Given the description of an element on the screen output the (x, y) to click on. 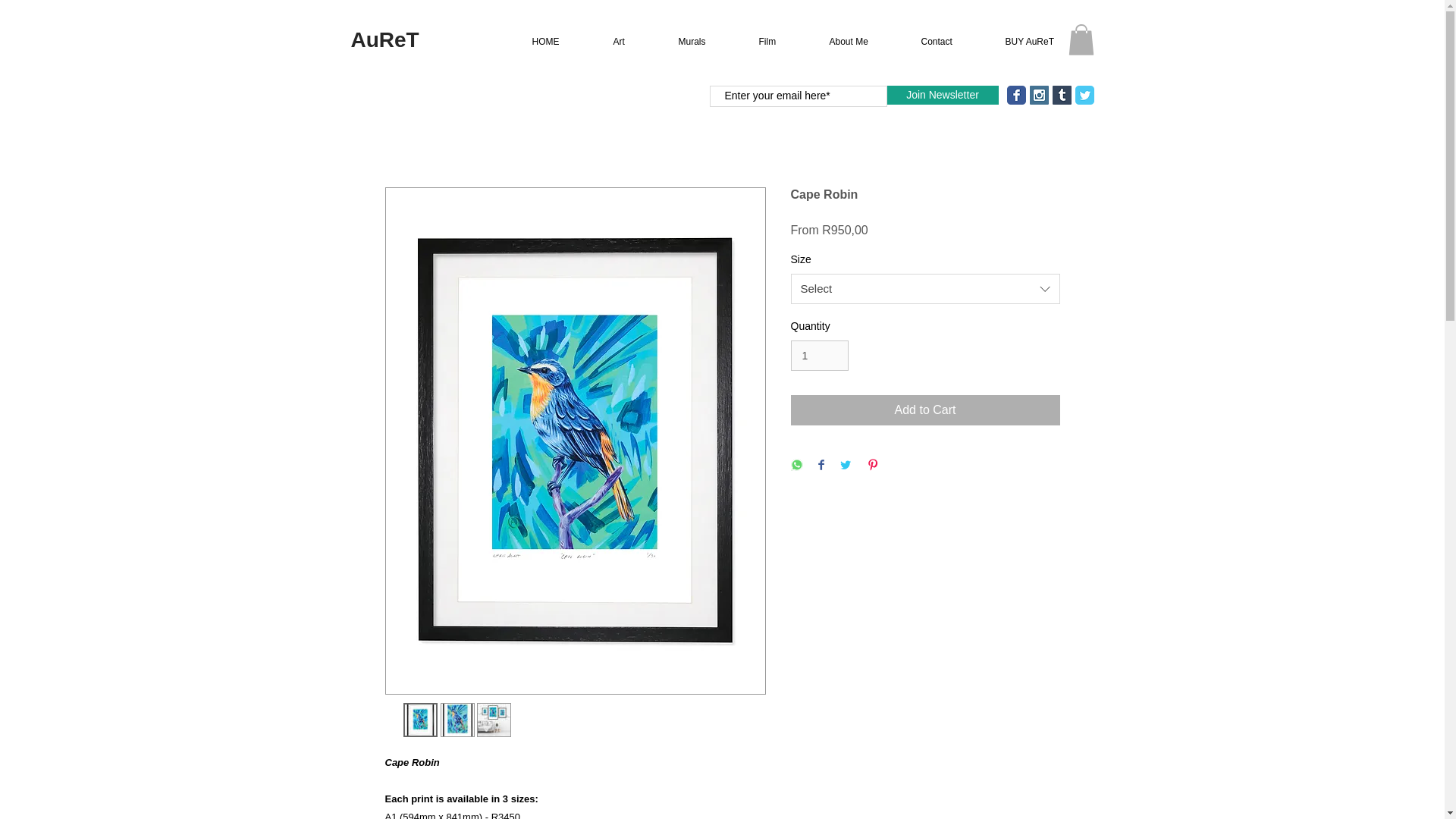
Contact (950, 41)
Select (924, 288)
BUY AuReT (1042, 41)
Murals (705, 41)
AuReT (384, 39)
About Me (861, 41)
1 (818, 355)
Film (780, 41)
Add to Cart (924, 409)
Join Newsletter (942, 94)
Art (632, 41)
HOME (558, 41)
